Given the description of an element on the screen output the (x, y) to click on. 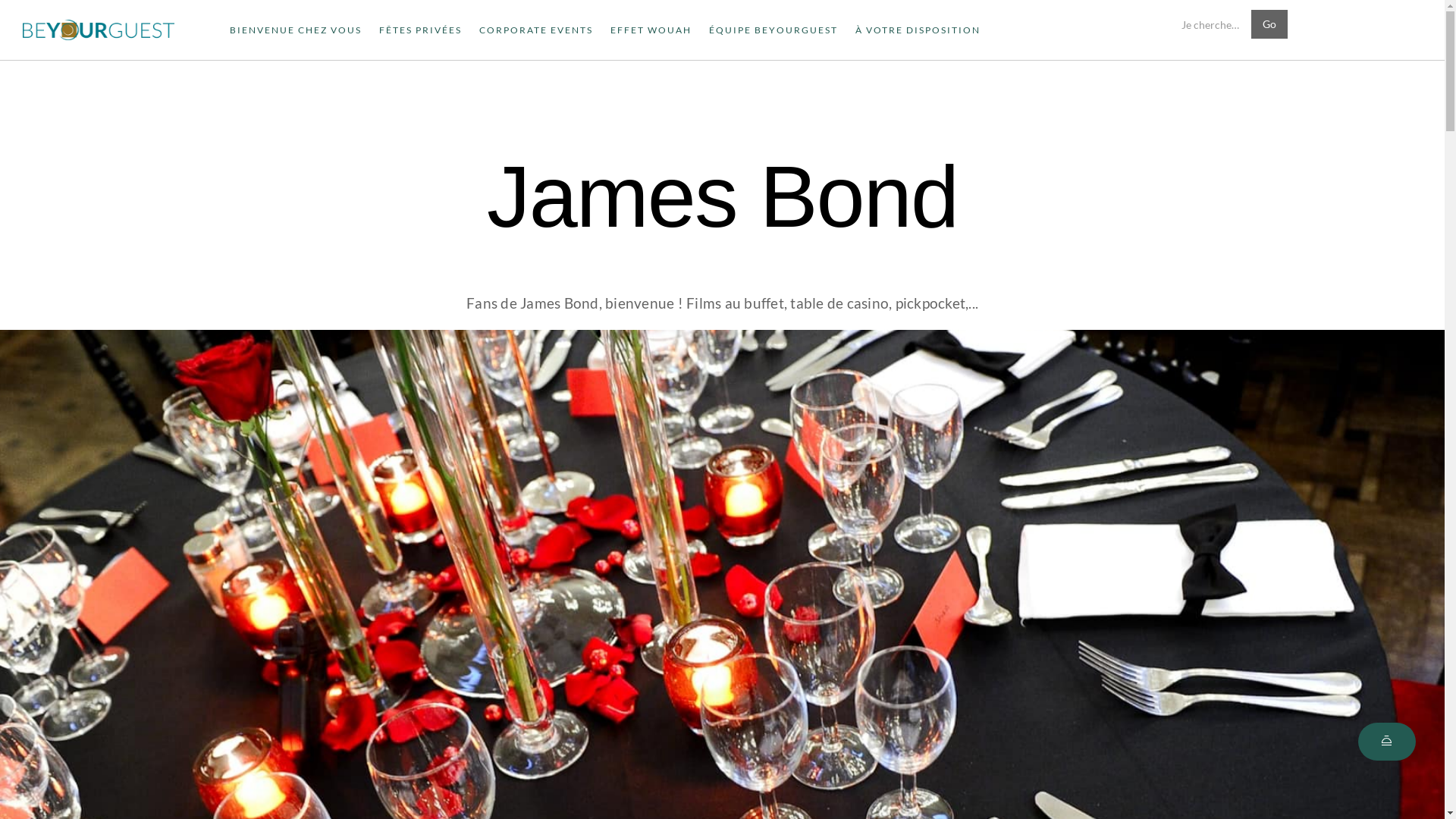
BIENVENUE CHEZ VOUS Element type: text (295, 29)
CORPORATE EVENTS Element type: text (536, 29)
EFFET WOUAH Element type: text (650, 29)
Go Element type: text (1269, 23)
